Given the description of an element on the screen output the (x, y) to click on. 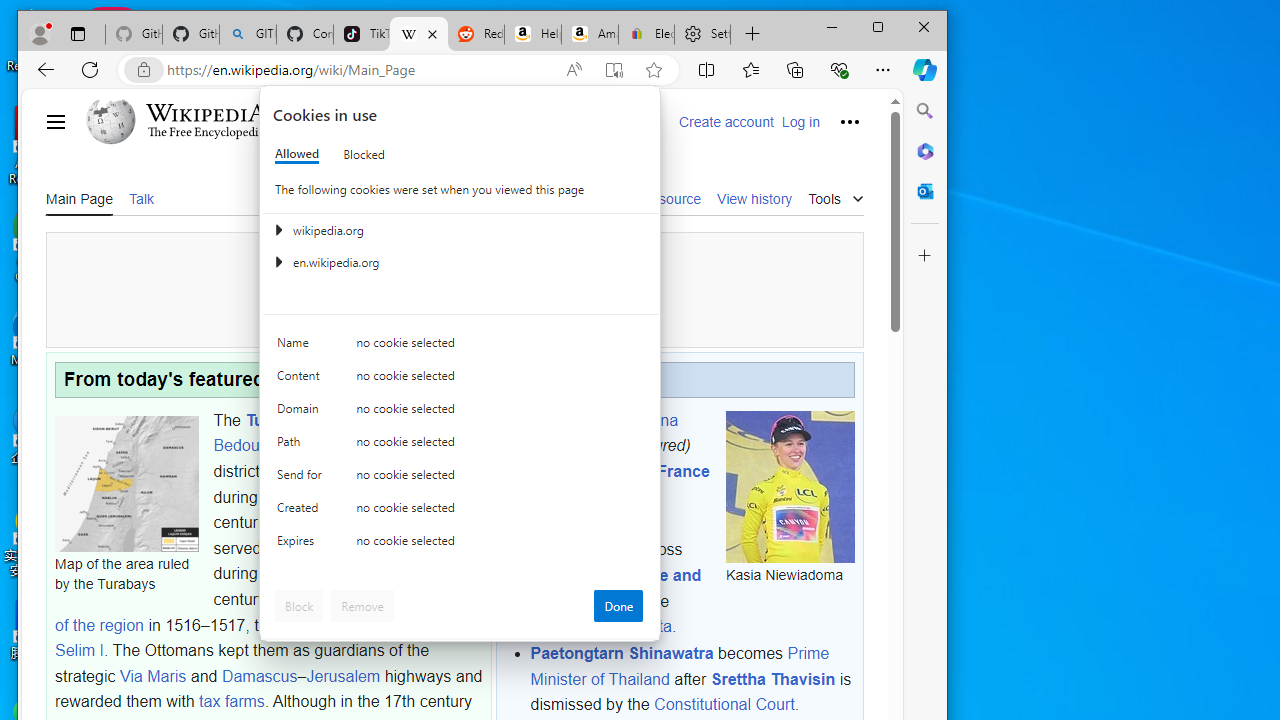
Created (302, 511)
Send for (302, 479)
Expires (302, 544)
Domain (302, 413)
Allowed (296, 153)
Remove (362, 605)
Block (299, 605)
Class: c0153 c0157 (460, 545)
Content (302, 380)
Done (617, 605)
Path (302, 446)
Class: c0153 c0157 c0154 (460, 347)
Name (302, 346)
no cookie selected (500, 544)
Blocked (363, 153)
